Given the description of an element on the screen output the (x, y) to click on. 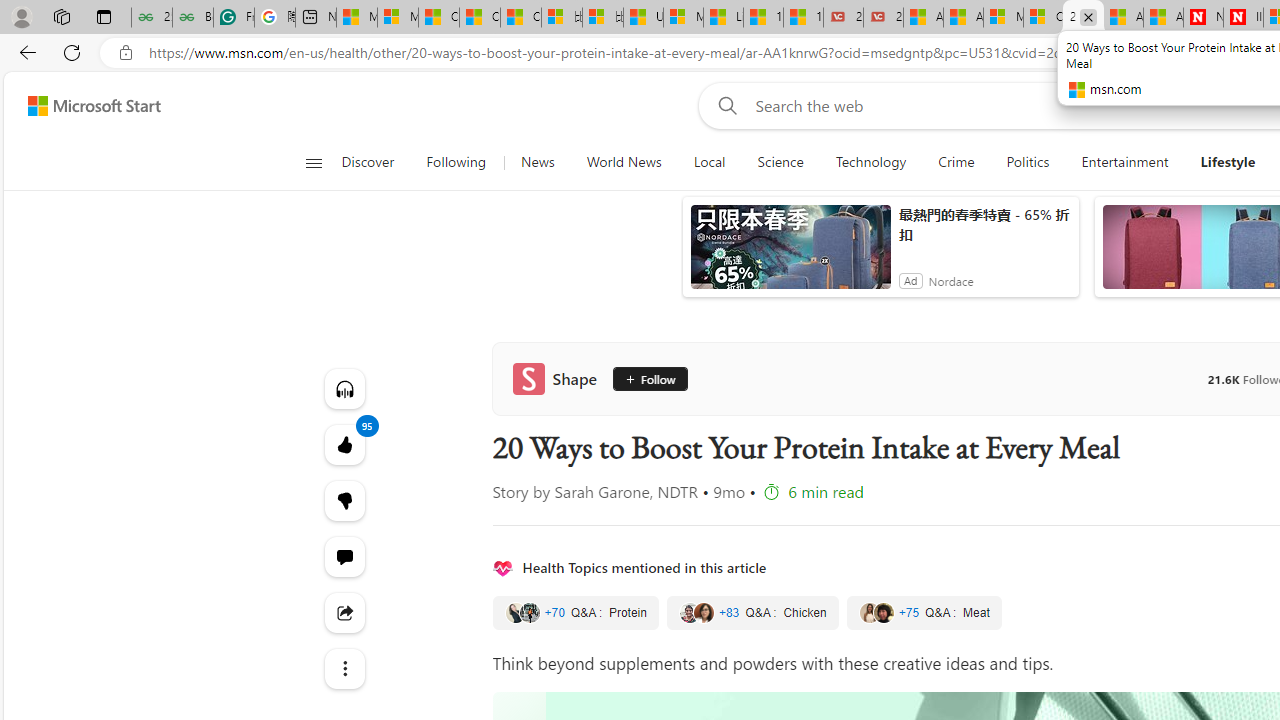
Science (779, 162)
Open navigation menu (313, 162)
Technology (870, 162)
Science (780, 162)
95 (343, 500)
Nordace (951, 280)
News (537, 162)
20 Ways to Boost Your Protein Intake at Every Meal (1083, 17)
Shape (558, 378)
Class: at-item (343, 668)
Entertainment (1124, 162)
Class: button-glyph (313, 162)
Illness news & latest pictures from Newsweek.com (1243, 17)
